Given the description of an element on the screen output the (x, y) to click on. 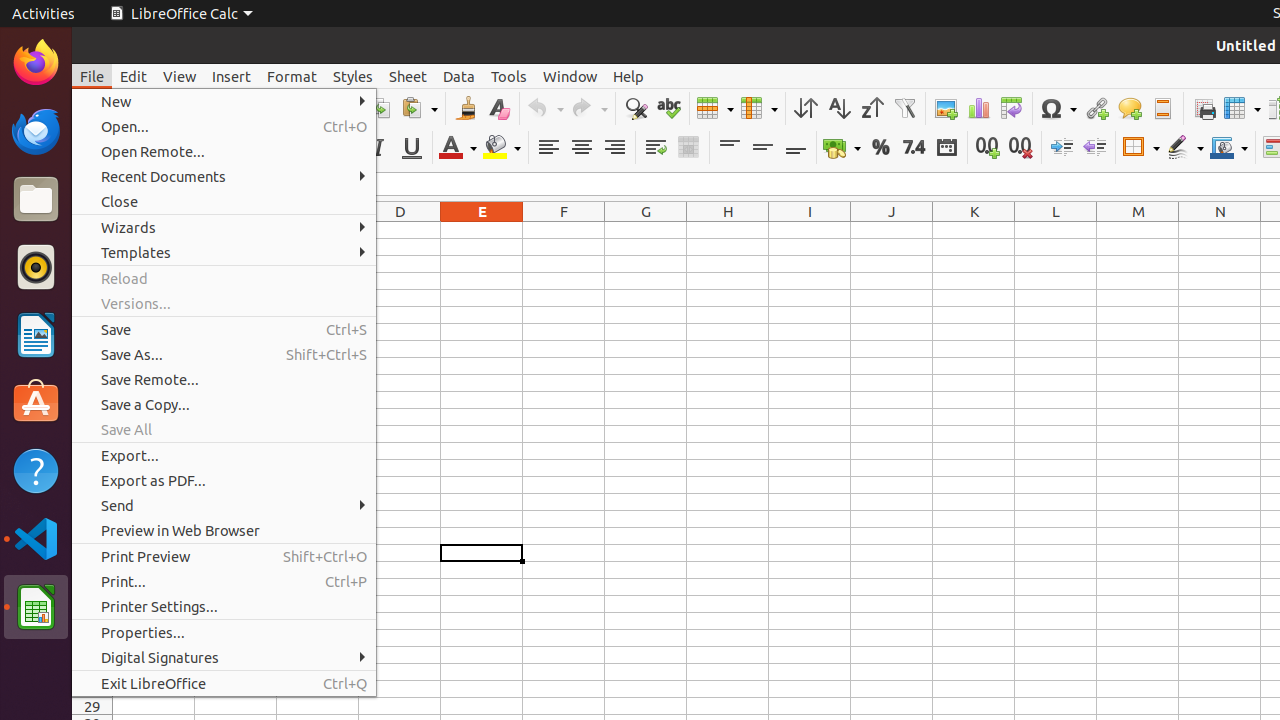
Format Element type: menu (292, 76)
Export as PDF... Element type: menu-item (224, 480)
Undo Element type: push-button (545, 108)
Sort Ascending Element type: push-button (838, 108)
Insert Element type: menu (231, 76)
